Given the description of an element on the screen output the (x, y) to click on. 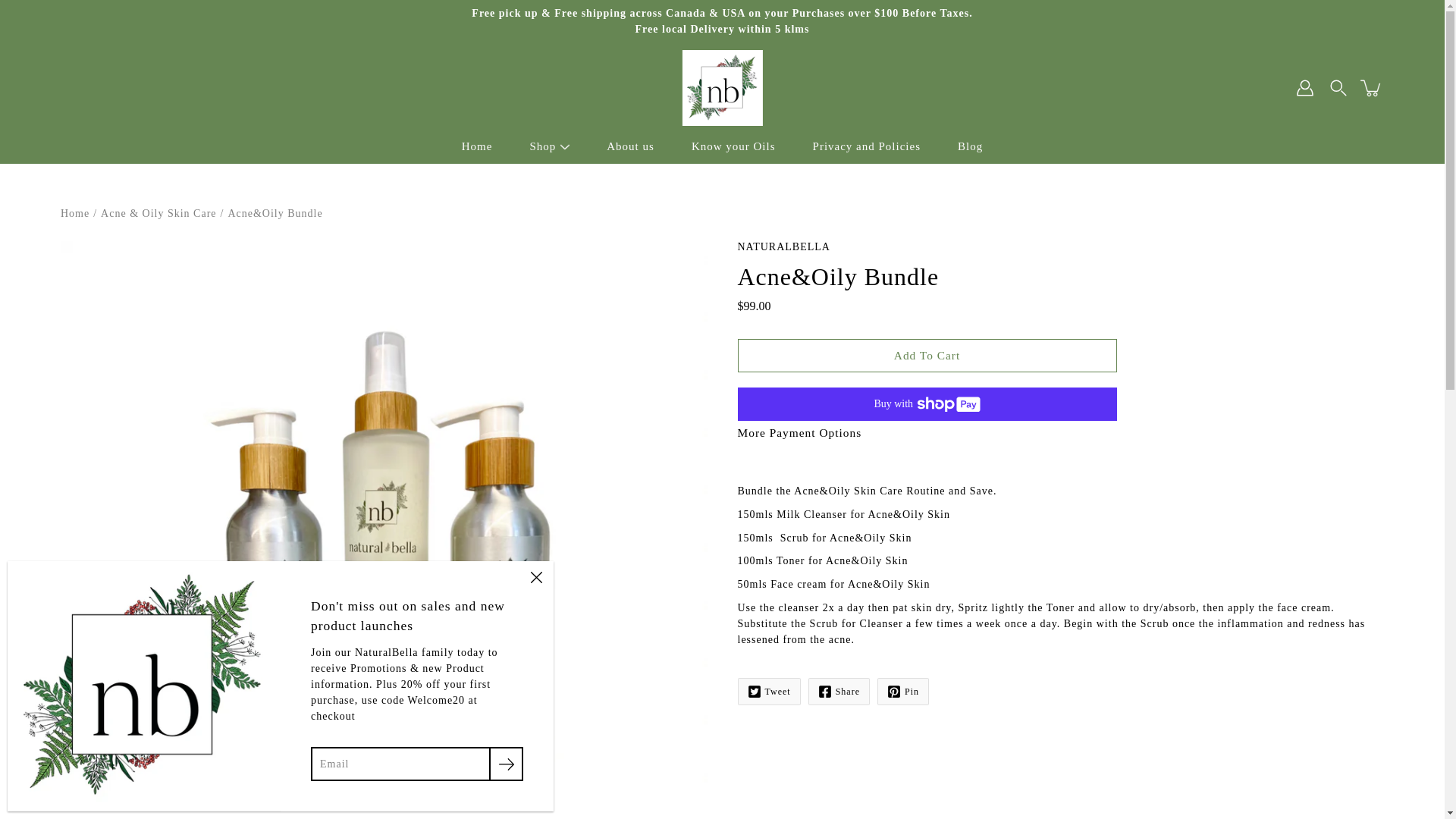
Shop (542, 146)
Back to the Homepage (74, 213)
Facebook (838, 691)
Know your Oils (733, 146)
About us (630, 146)
Twitter (767, 691)
Pinterest (902, 691)
Privacy and Policies (866, 146)
Home (477, 146)
Blog (970, 146)
